Given the description of an element on the screen output the (x, y) to click on. 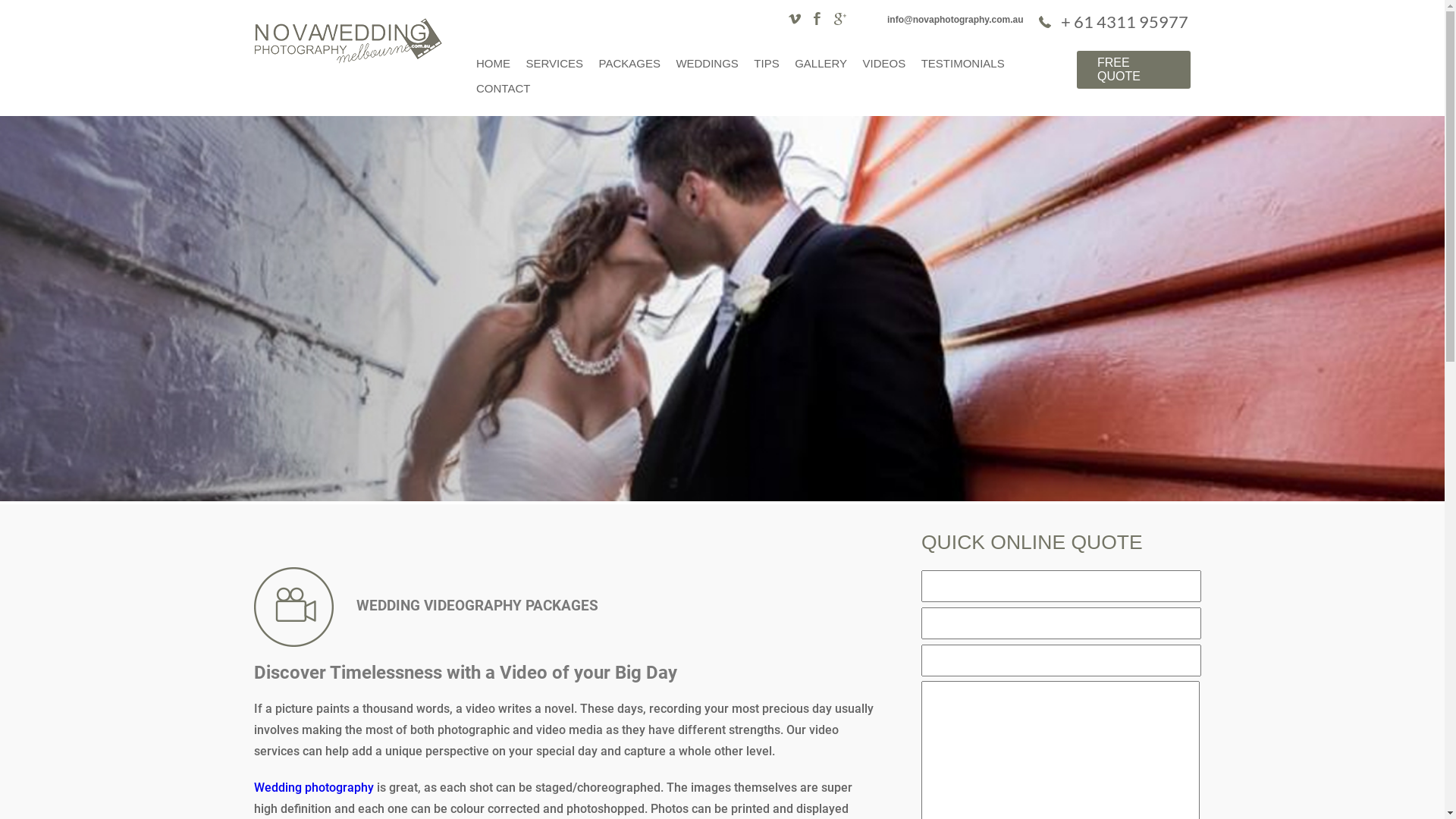
Wedding photography Element type: text (313, 787)
vimeo Element type: hover (792, 17)
CONTACT Element type: text (503, 87)
info@novaphotography.com.au Element type: text (959, 19)
FREE QUOTE Element type: text (1133, 69)
HOME Element type: text (493, 62)
GALLERY Element type: text (820, 62)
PACKAGES Element type: text (629, 62)
TIPS Element type: text (765, 62)
Facebook Element type: hover (814, 17)
TESTIMONIALS Element type: text (962, 62)
VIDEOS Element type: text (884, 62)
Nova Photography Element type: hover (348, 59)
+ 61 4311 95977 Element type: text (1114, 21)
WEDDINGS Element type: text (706, 62)
SERVICES Element type: text (554, 62)
Goolge Plus Element type: hover (837, 17)
